Given the description of an element on the screen output the (x, y) to click on. 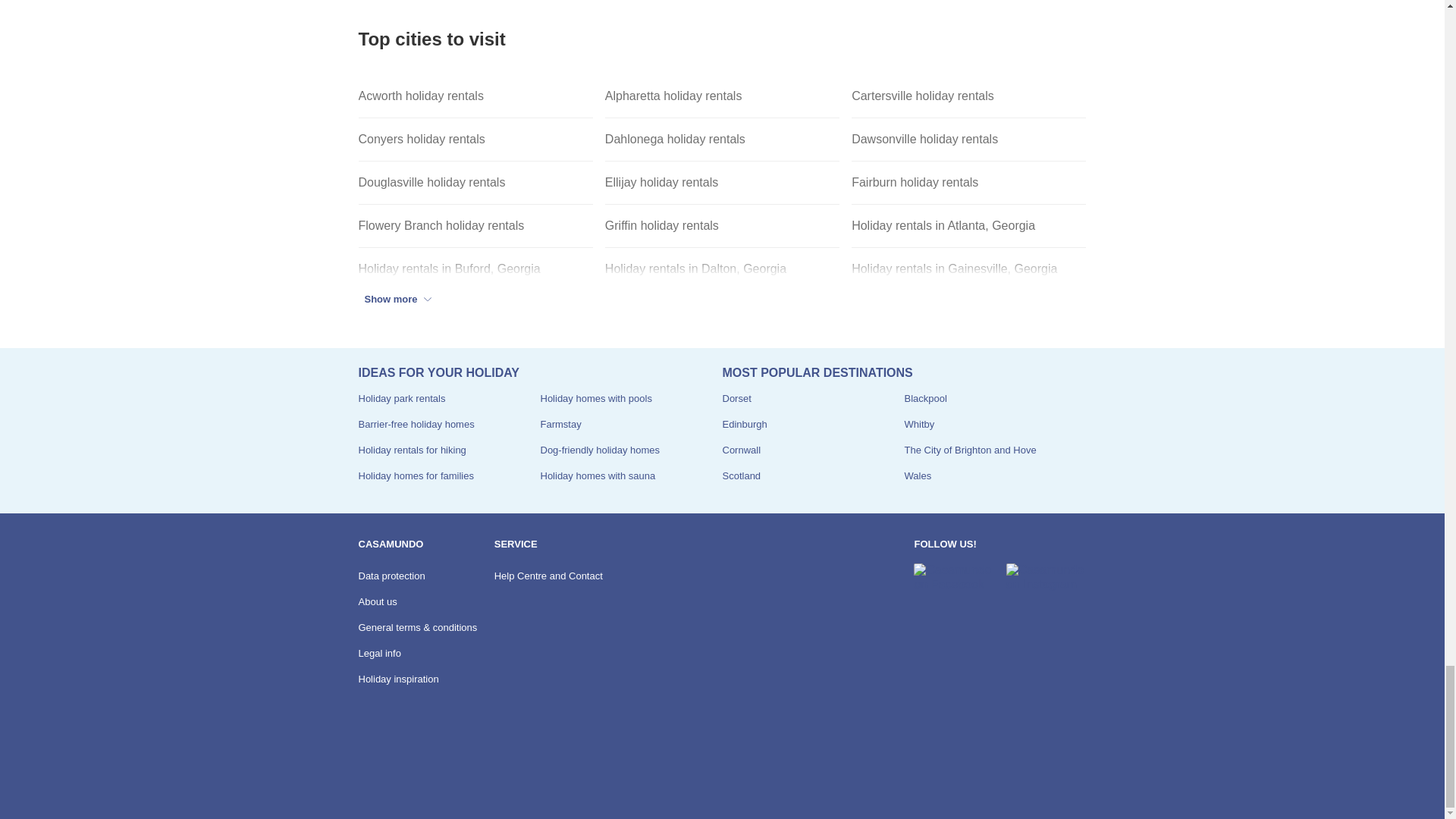
Dahlonega holiday rentals (722, 139)
Dawsonville holiday rentals (968, 139)
Alpharetta holiday rentals (722, 96)
Cartersville holiday rentals (968, 96)
Acworth holiday rentals (475, 96)
Conyers holiday rentals (475, 139)
